Given the description of an element on the screen output the (x, y) to click on. 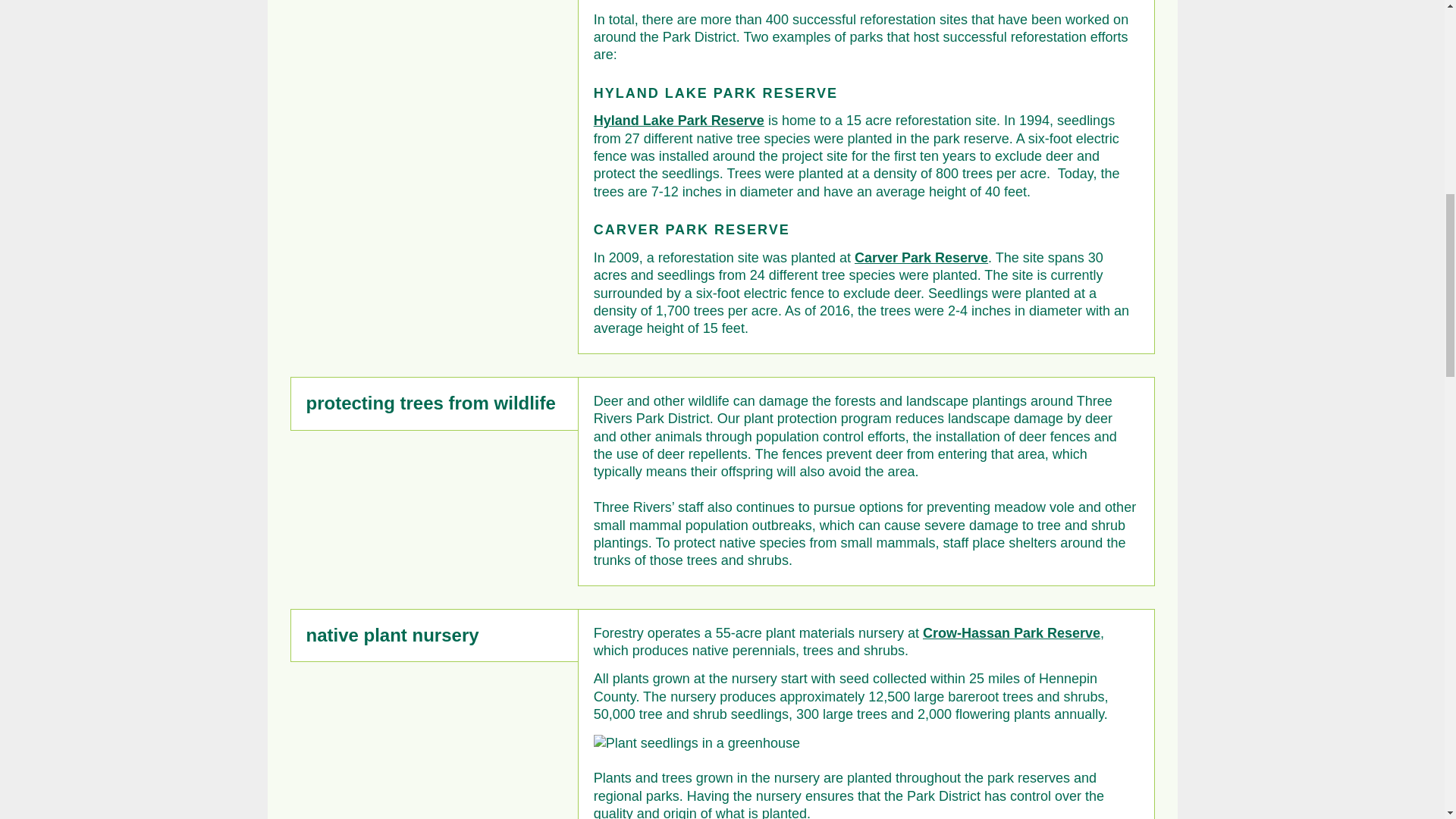
Carver Park Reserve (921, 257)
Hyland Lake Park Reserve (679, 120)
Crow-Hassan Park Reserve (1011, 632)
